Given the description of an element on the screen output the (x, y) to click on. 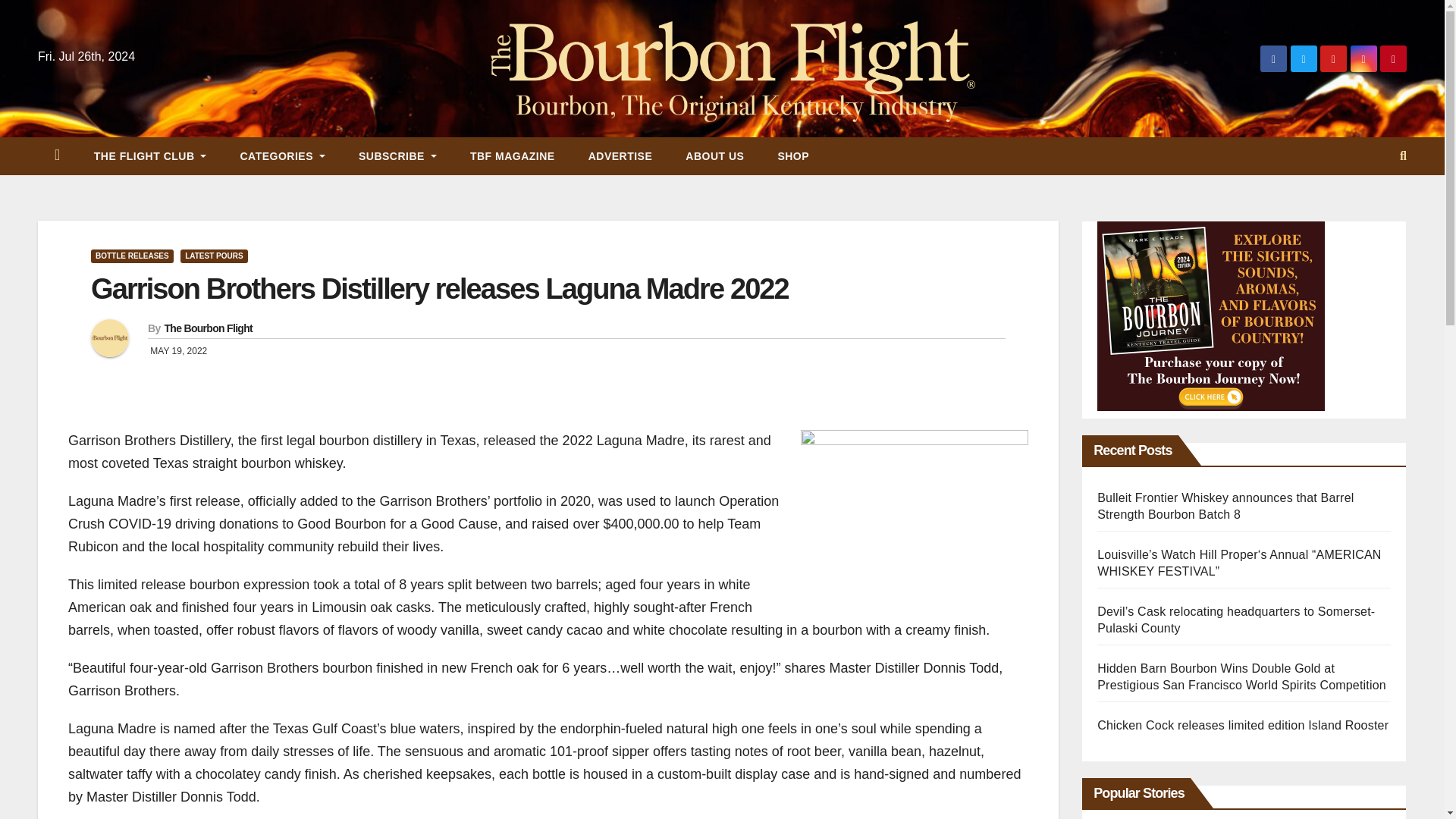
SHOP (792, 156)
ADVERTISE (620, 156)
Categories (281, 156)
Garrison Brothers Distillery releases Laguna Madre 2022 (439, 288)
CATEGORIES (281, 156)
Home (57, 156)
ABOUT US (714, 156)
LATEST POURS (213, 255)
BOTTLE RELEASES (131, 255)
THE FLIGHT CLUB (150, 156)
The Flight Club (150, 156)
SUBSCRIBE (397, 156)
TBF MAGAZINE (512, 156)
The Bourbon Flight (207, 328)
